Given the description of an element on the screen output the (x, y) to click on. 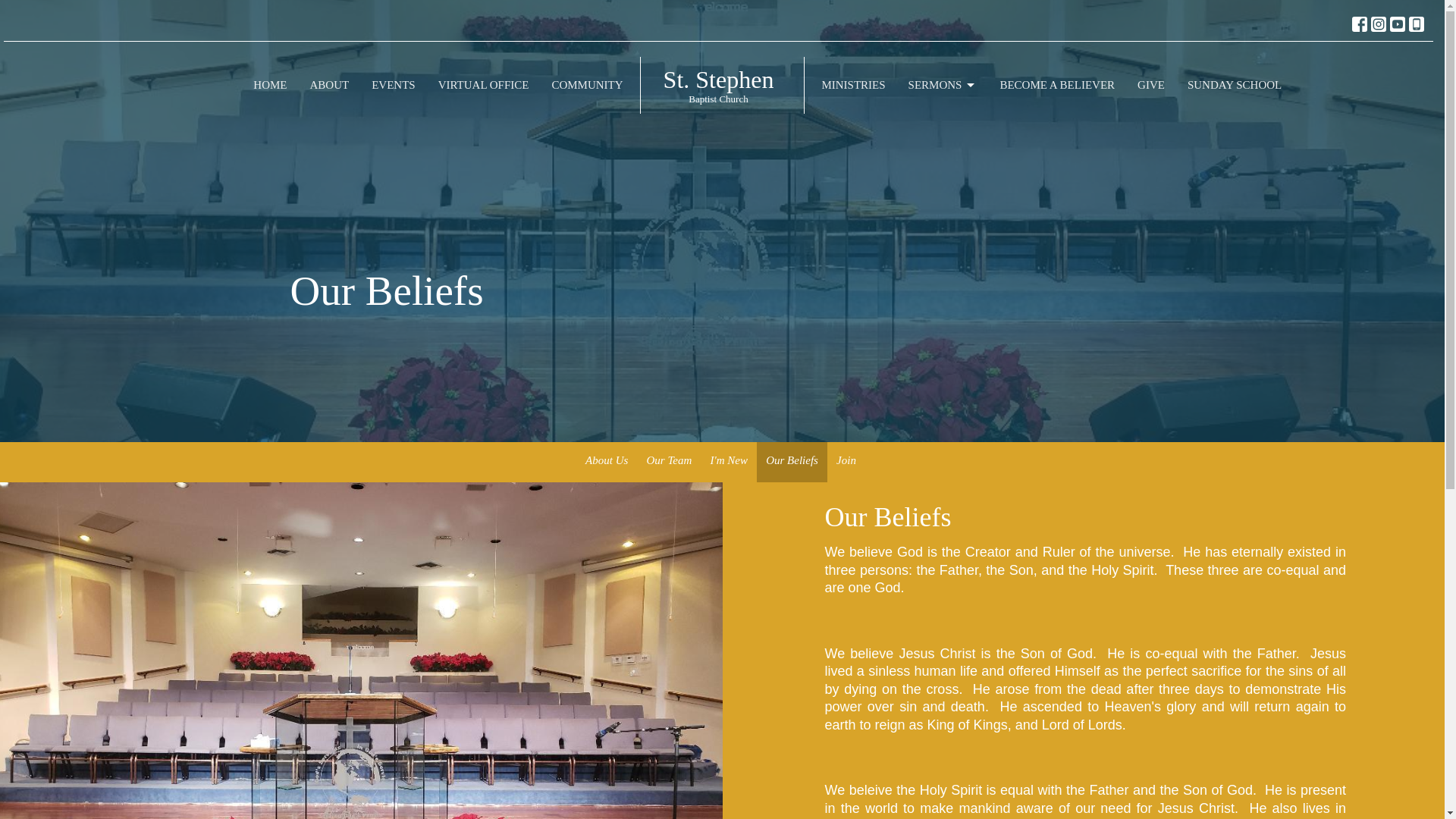
SUNDAY SCHOOL (1234, 84)
Our Beliefs (792, 462)
Join (845, 462)
HOME (269, 84)
I'm New (729, 462)
SERMONS (942, 84)
BECOME A BELIEVER (1056, 84)
COMMUNITY (587, 84)
MINISTRIES (853, 84)
EVENTS (392, 84)
Our Team (668, 462)
About Us (606, 462)
GIVE (1150, 84)
VIRTUAL OFFICE (722, 84)
